Given the description of an element on the screen output the (x, y) to click on. 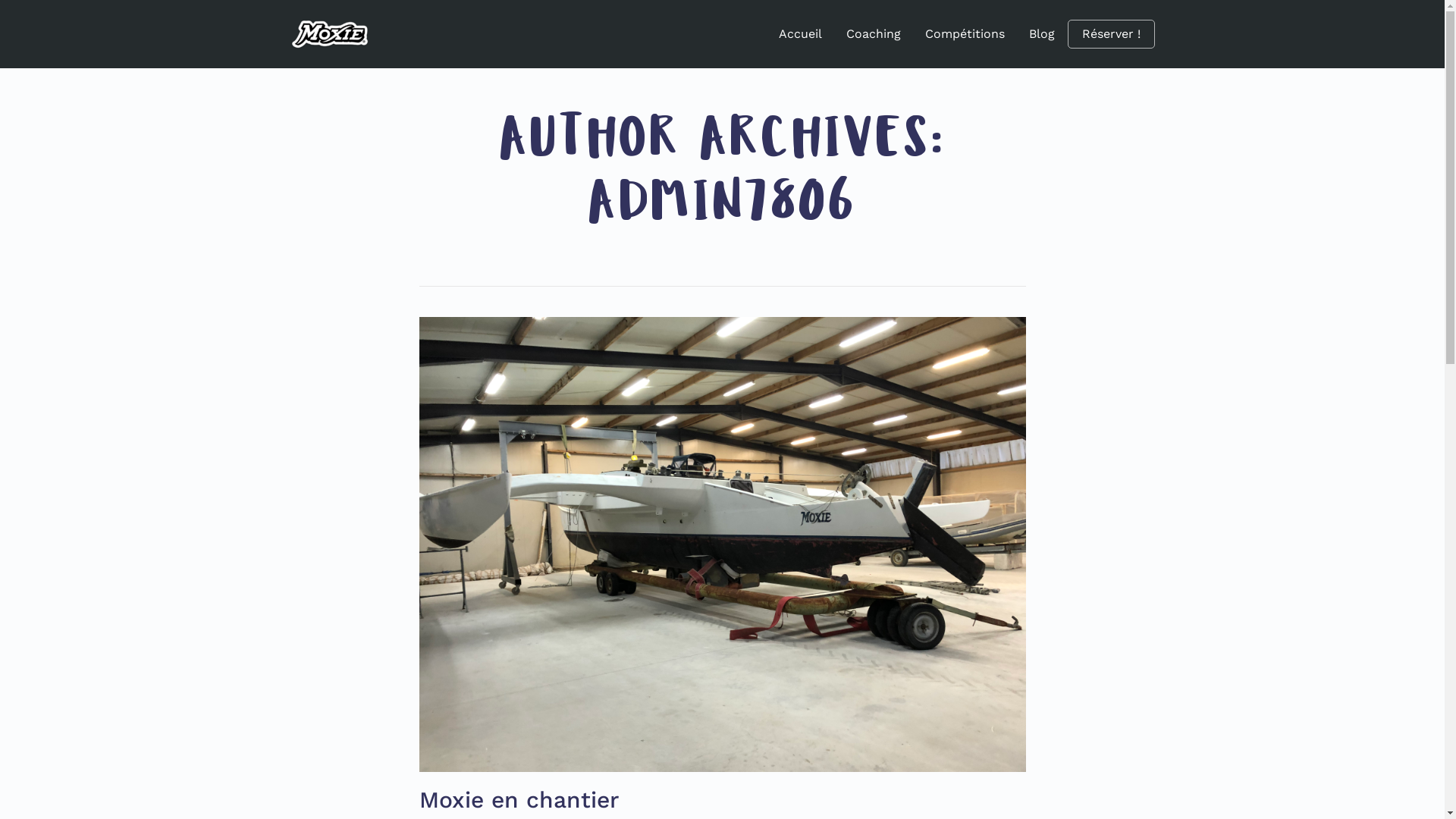
Moxie en chantier Element type: text (518, 799)
Coaching Element type: text (873, 34)
Blog Element type: text (1041, 34)
Accueil Element type: text (799, 34)
